Given the description of an element on the screen output the (x, y) to click on. 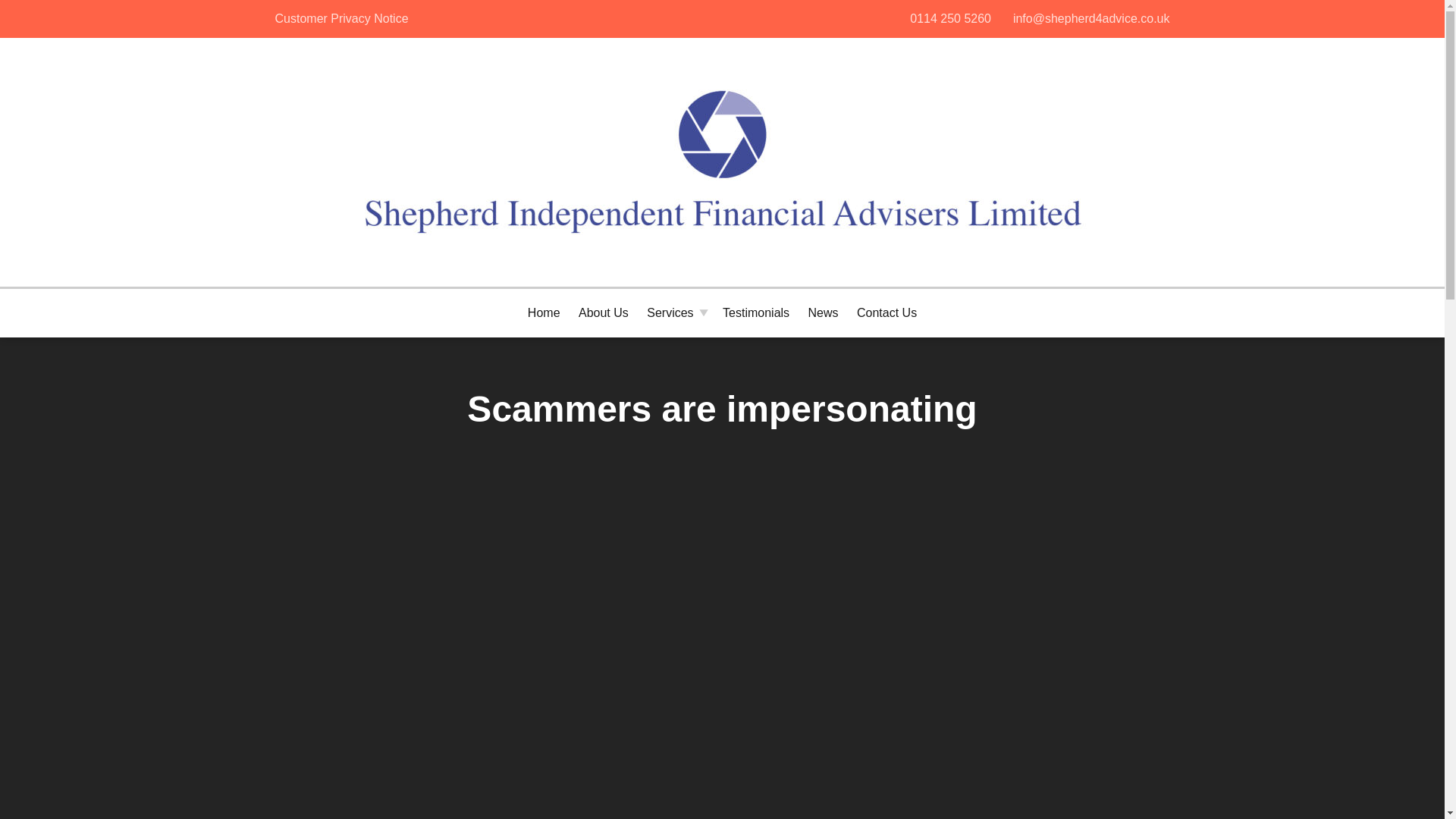
News (822, 313)
Customer Privacy Notice (948, 18)
About Us (340, 18)
Testimonials (603, 313)
Contact Us (755, 313)
Home (886, 313)
